Given the description of an element on the screen output the (x, y) to click on. 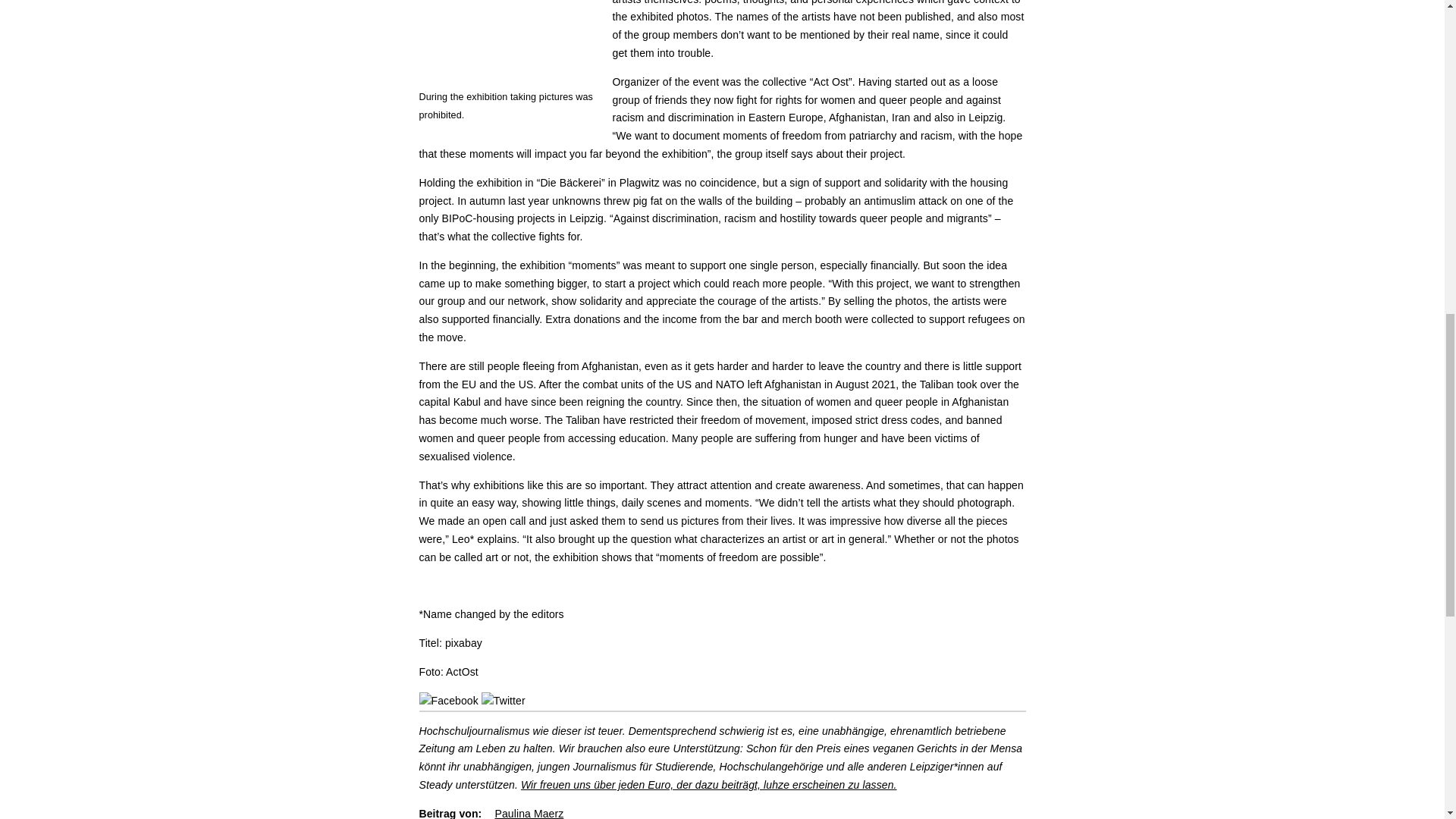
Paulina Maerz (529, 813)
